Given the description of an element on the screen output the (x, y) to click on. 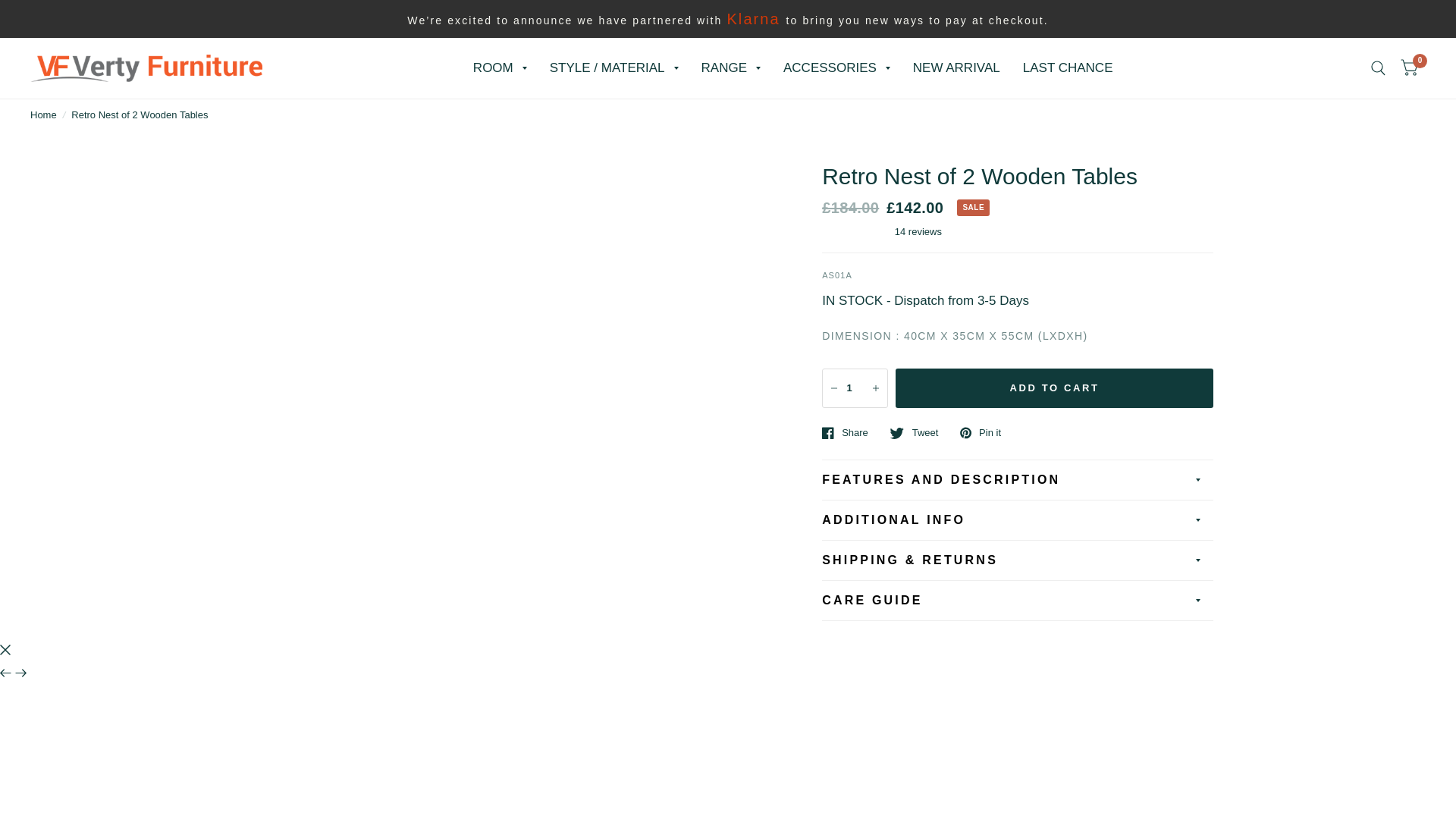
1 (854, 388)
